Given the description of an element on the screen output the (x, y) to click on. 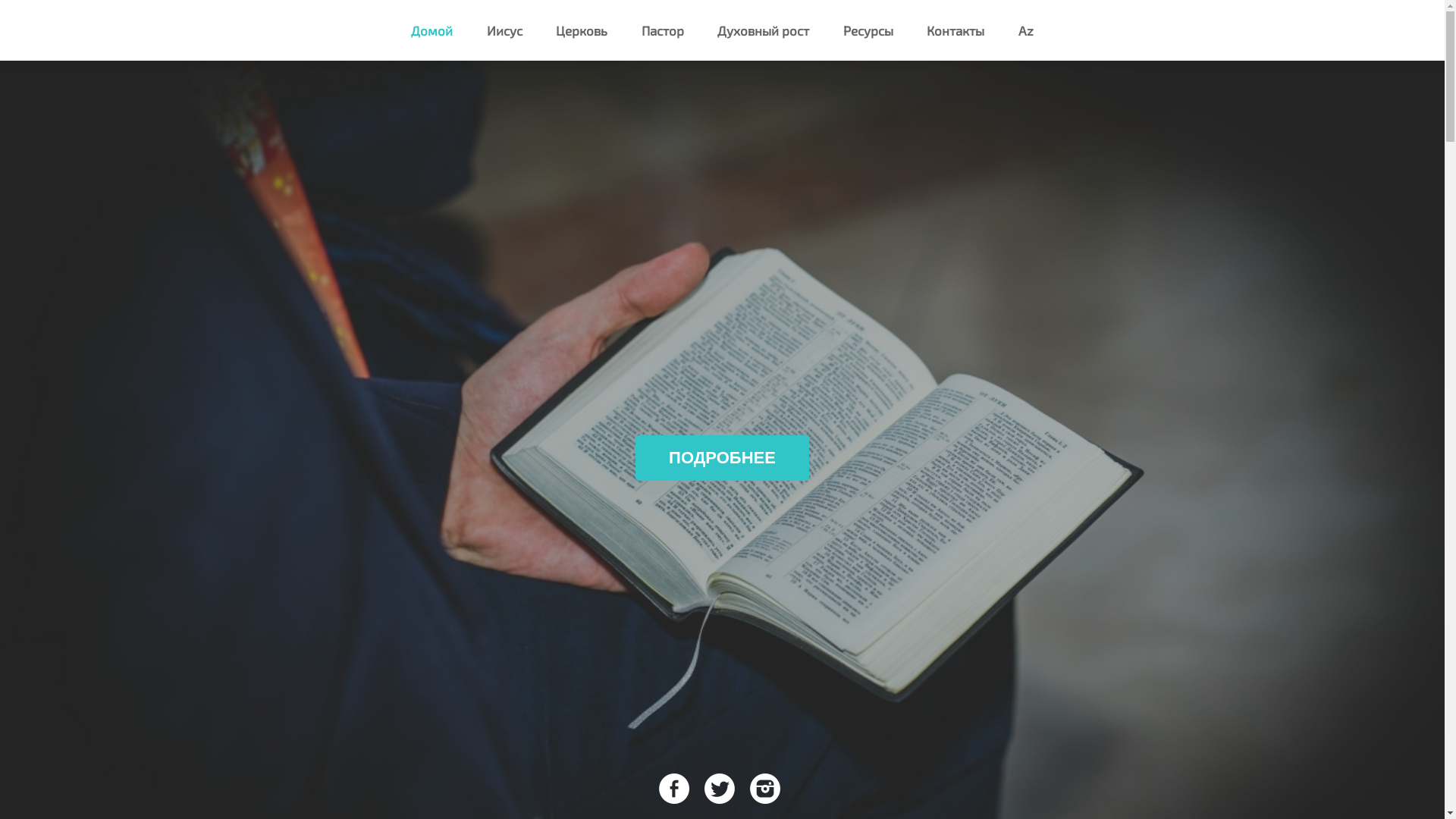
info@newlifebaku.az Element type: text (972, 731)
Az Element type: text (1025, 30)
